Given the description of an element on the screen output the (x, y) to click on. 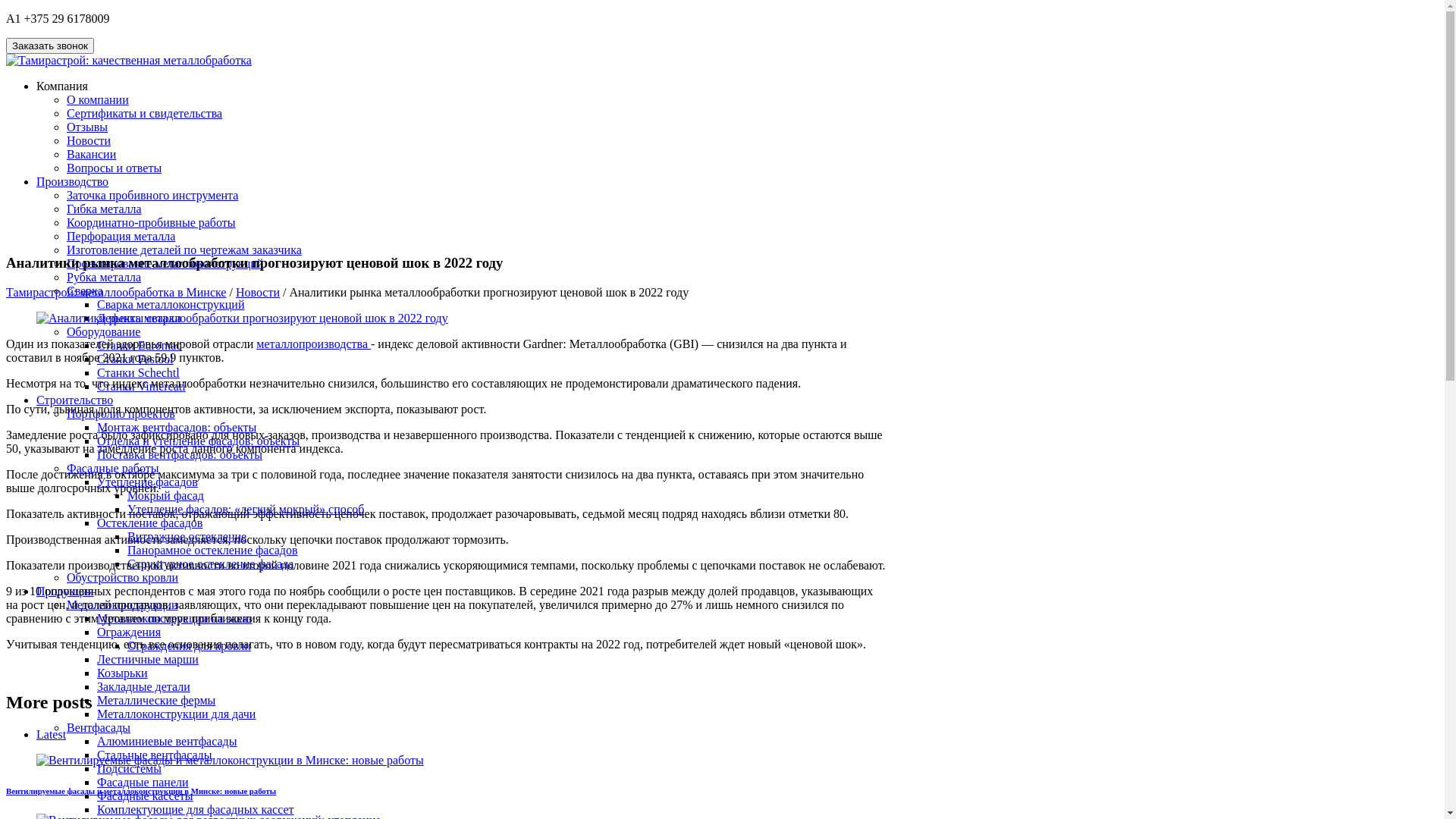
Latest Element type: text (50, 734)
